Given the description of an element on the screen output the (x, y) to click on. 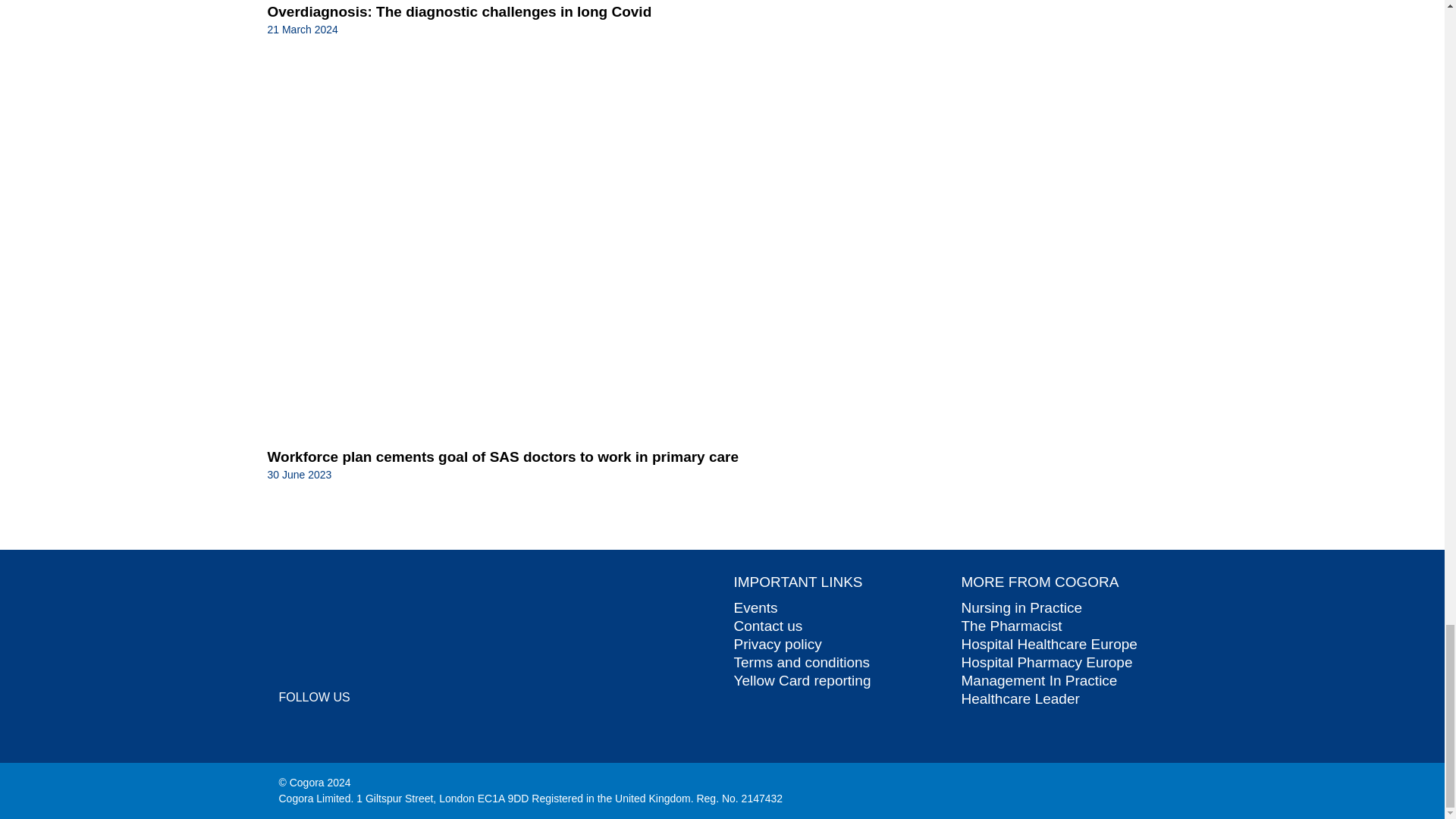
Contact us (768, 625)
Privacy policy (777, 643)
Events (755, 607)
